Given the description of an element on the screen output the (x, y) to click on. 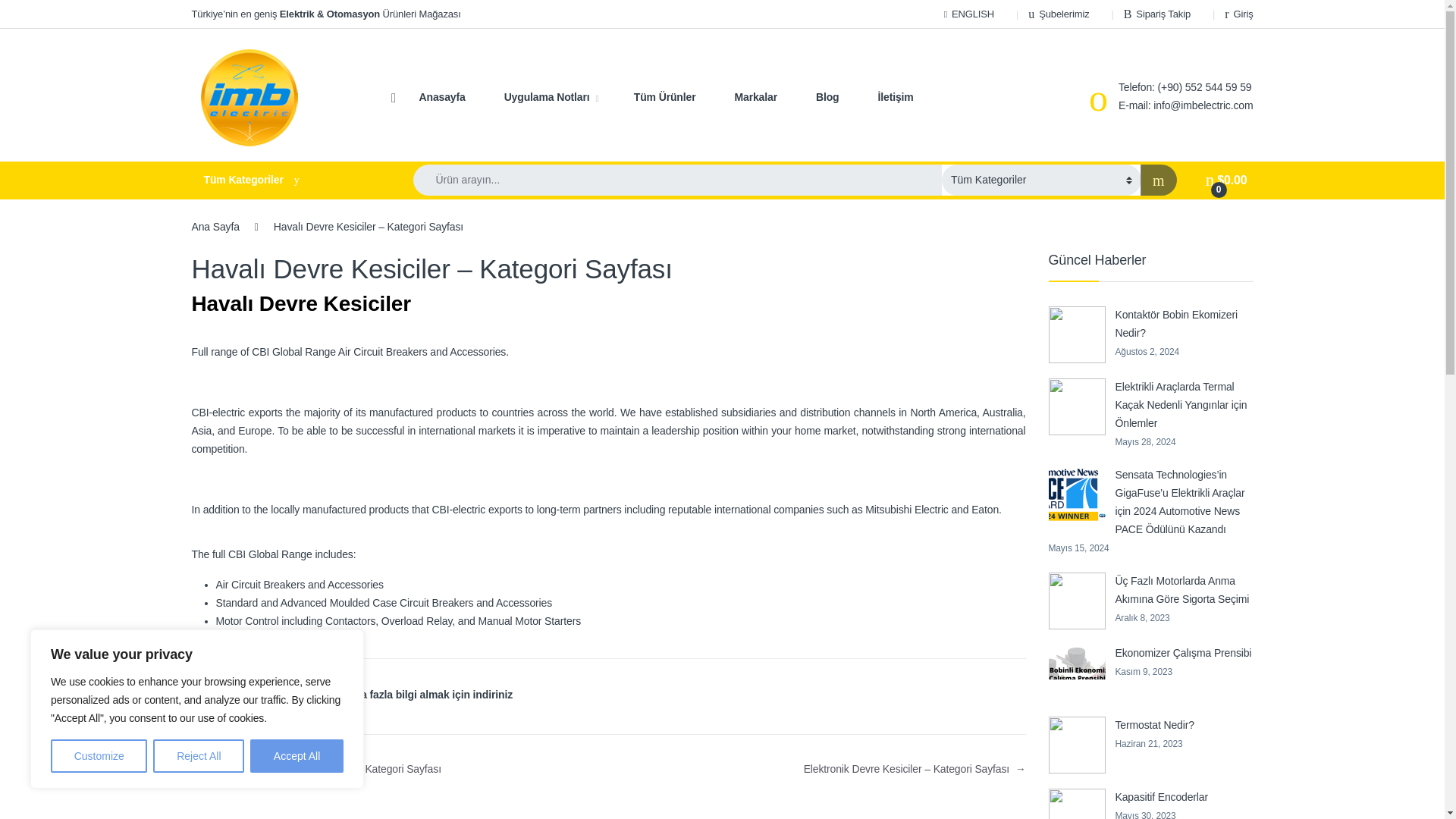
Customize (98, 756)
ENGLISH (968, 13)
ENGLISH (968, 13)
Anasayfa (441, 97)
Reject All (198, 756)
Accept All (296, 756)
